Given the description of an element on the screen output the (x, y) to click on. 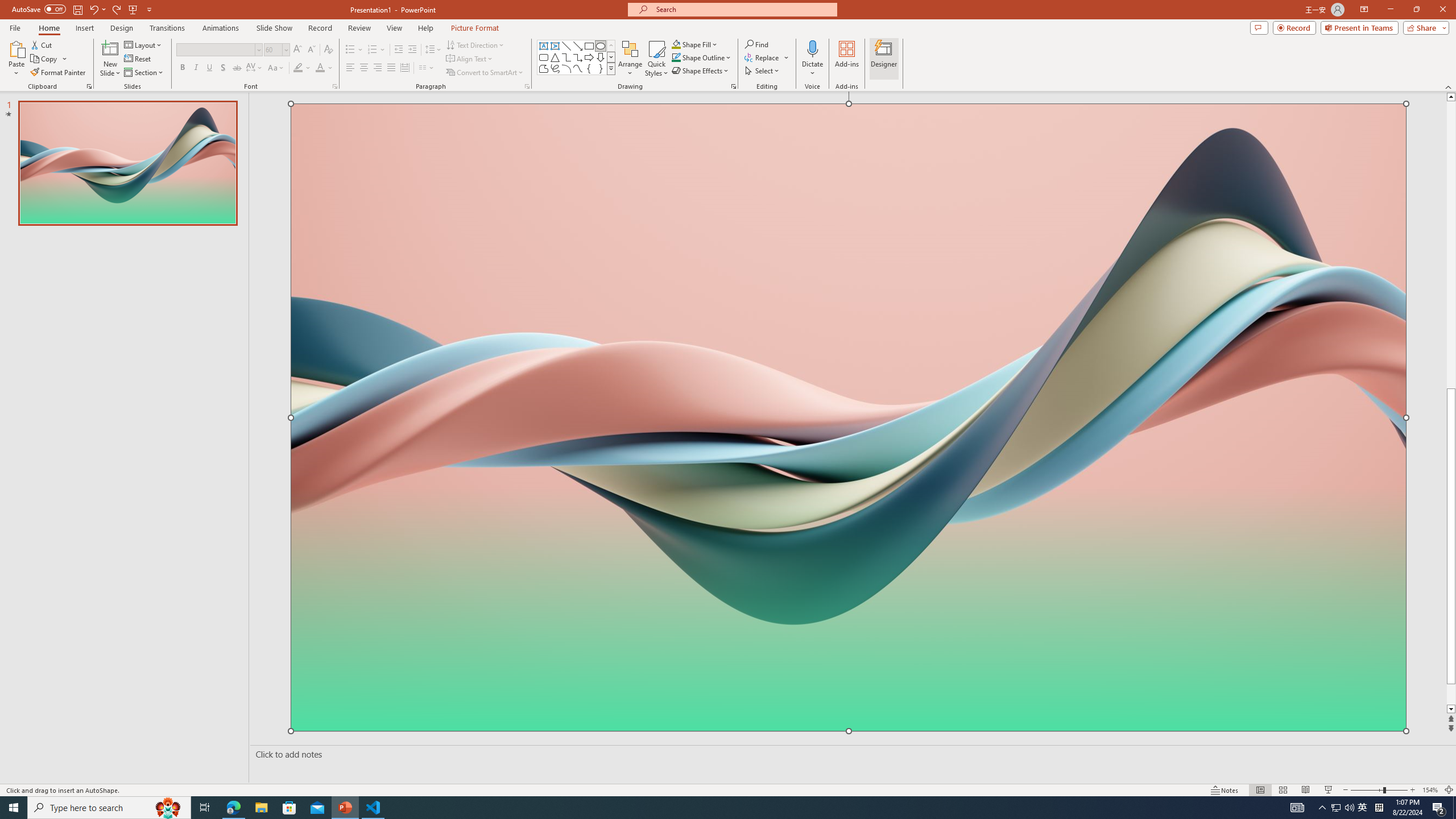
Decorative Locked (848, 588)
